Given the description of an element on the screen output the (x, y) to click on. 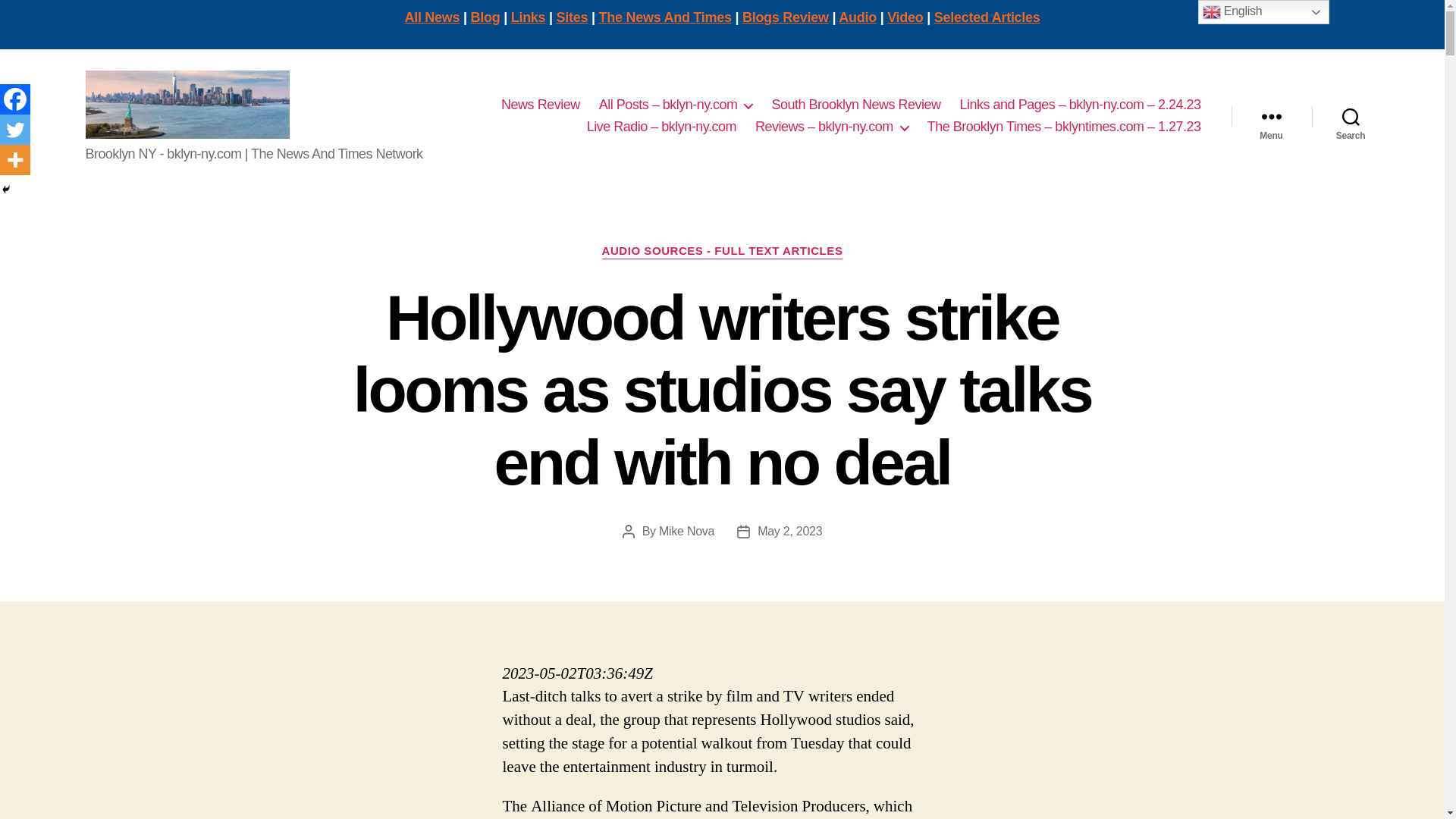
Links (528, 17)
Hide (5, 189)
South Brooklyn News Review (855, 105)
The News And Times (665, 17)
Video (904, 17)
Blogs Review (785, 17)
Menu (1271, 115)
News Review (539, 105)
Search (1350, 115)
Blog (485, 17)
